Given the description of an element on the screen output the (x, y) to click on. 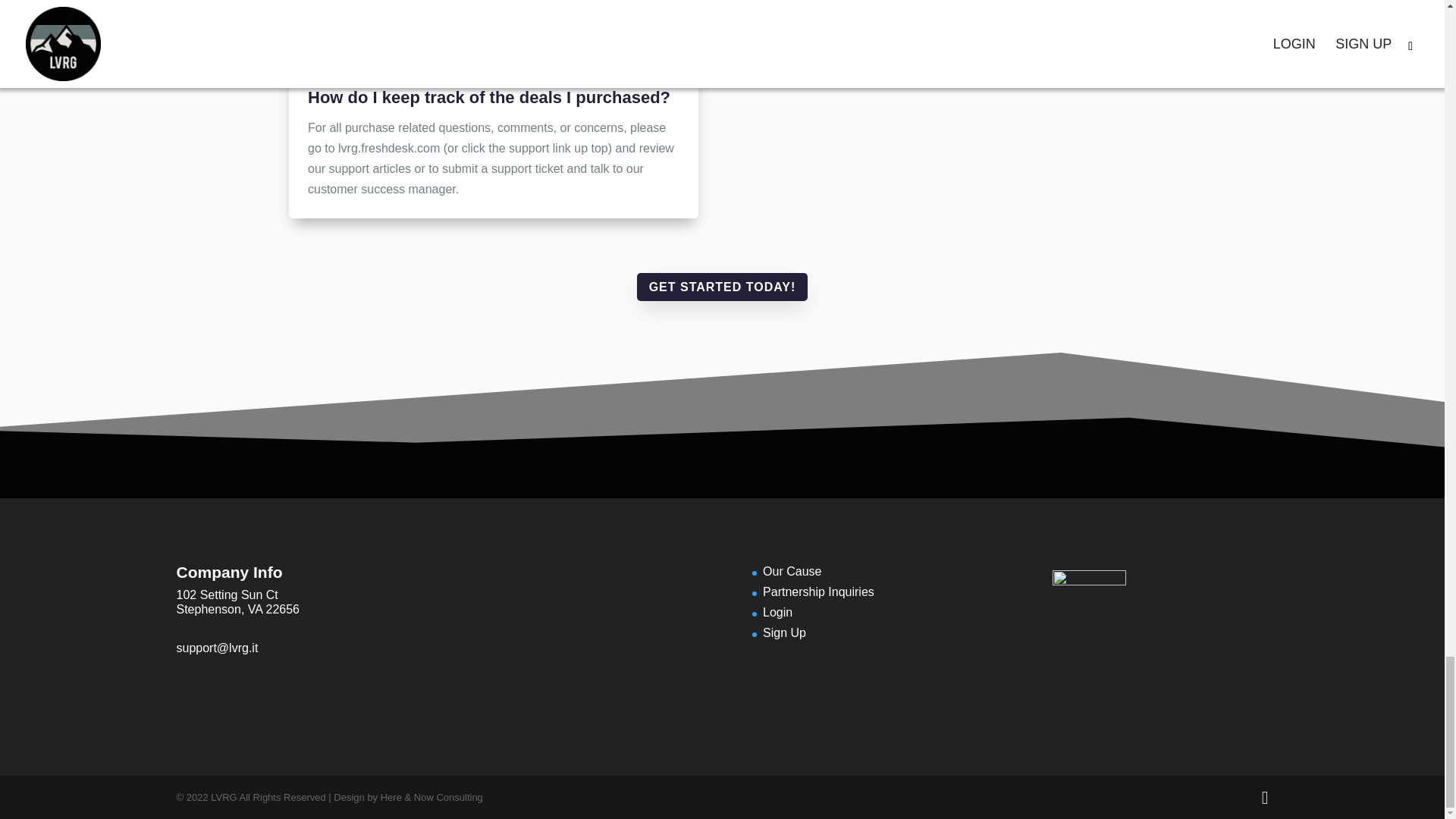
GET STARTED TODAY! (722, 286)
Login (777, 612)
Partnership Inquiries (818, 591)
Our Cause (791, 571)
Sign Up (784, 632)
